Given the description of an element on the screen output the (x, y) to click on. 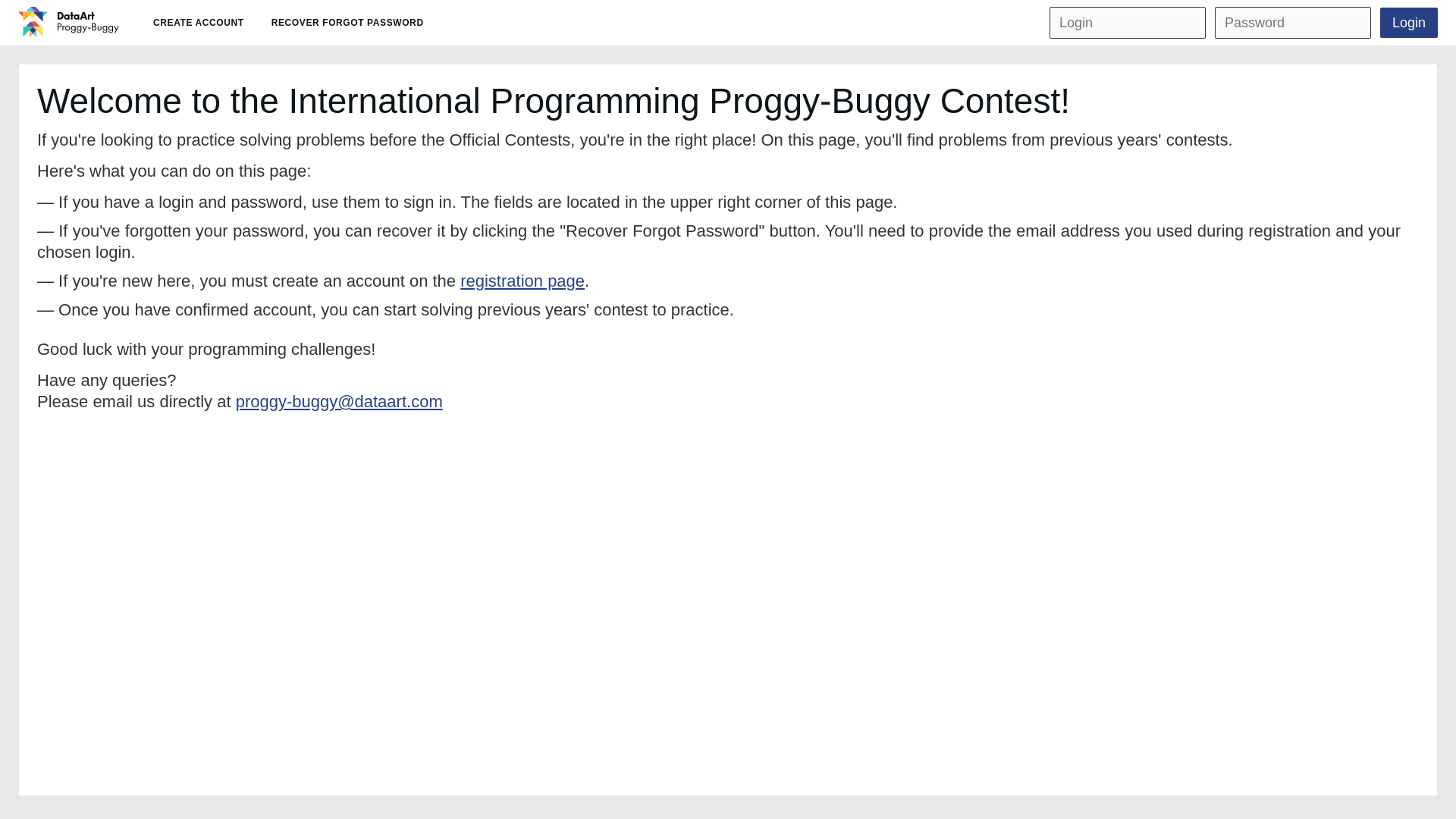
CREATE ACCOUNT (198, 22)
registration page (522, 280)
RECOVER FORGOT PASSWORD (347, 22)
Login (1409, 22)
Login (1409, 22)
